Given the description of an element on the screen output the (x, y) to click on. 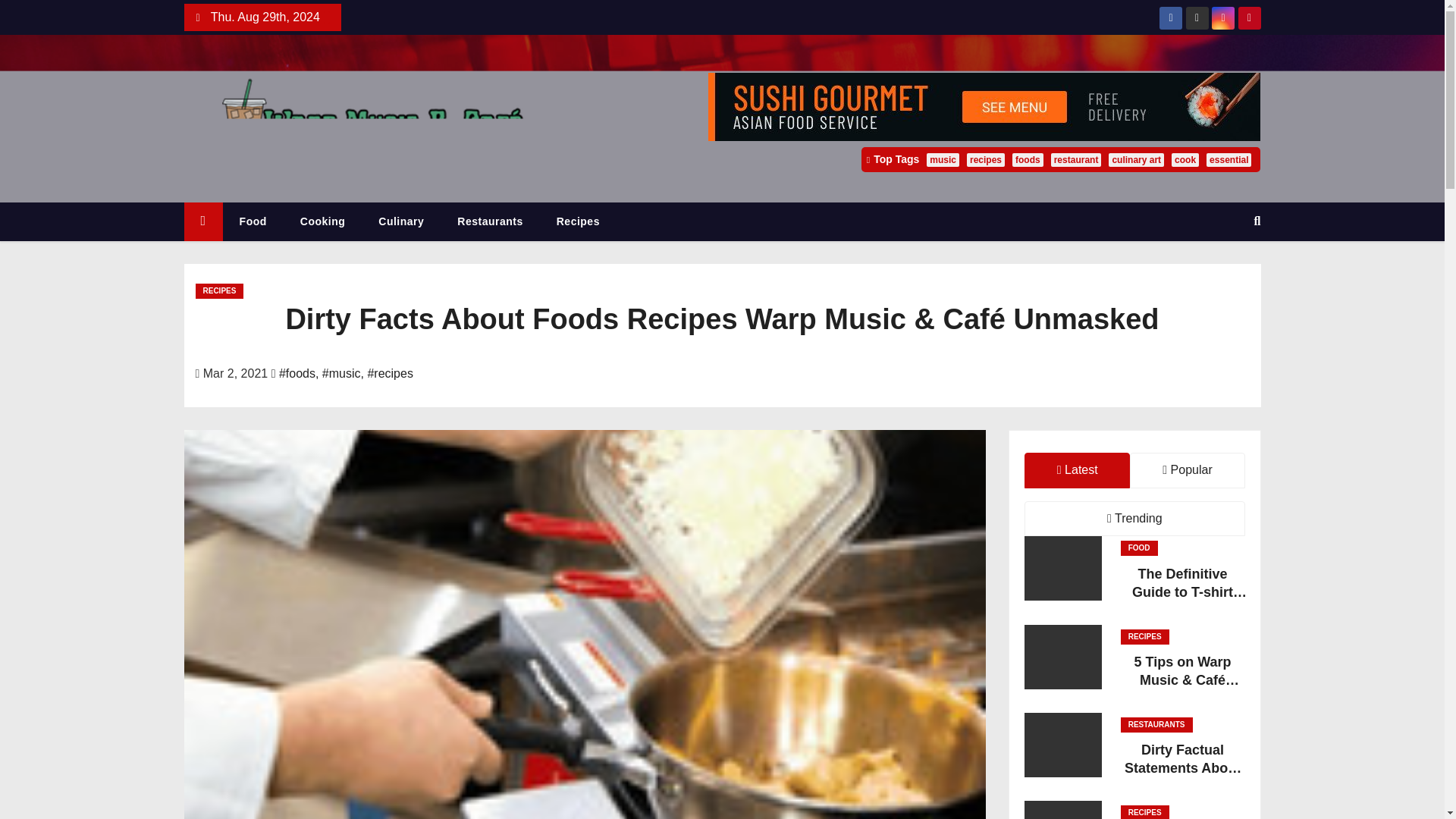
culinary art (1135, 160)
Culinary (401, 221)
Recipes (577, 221)
cook (1185, 160)
Food (252, 221)
RECIPES (219, 290)
Cooking (322, 221)
recipes (985, 160)
Home (202, 221)
music (942, 160)
